Given the description of an element on the screen output the (x, y) to click on. 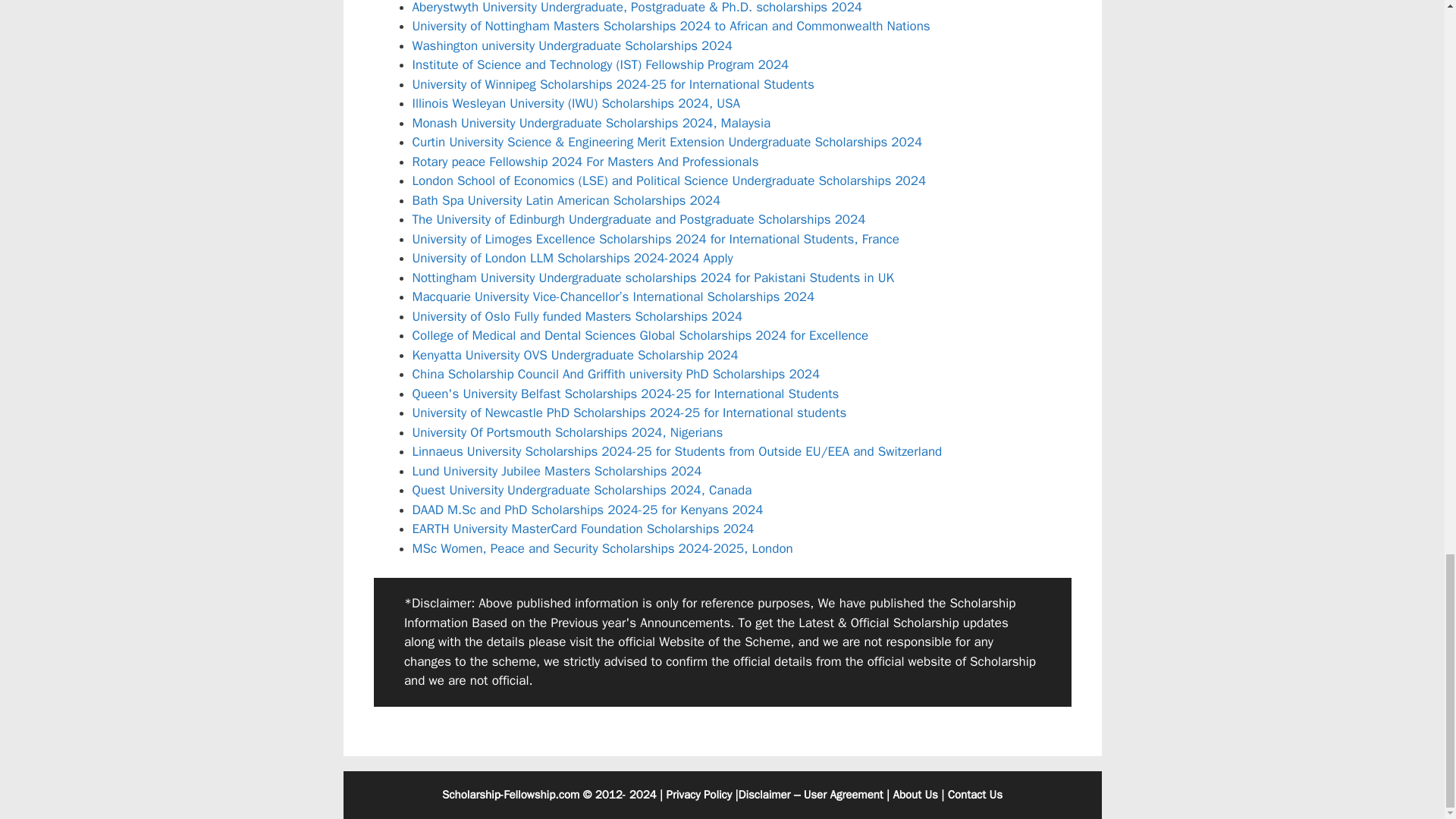
Rotary peace Fellowship 2024 For Masters And Professionals (585, 161)
Washington university Undergraduate Scholarships 2024 (572, 45)
Kenyatta University OVS Undergraduate Scholarship 2024 (575, 355)
University of London LLM Scholarships 2024-2024 Apply (572, 258)
University Of Portsmouth Scholarships 2024, Nigerians (567, 432)
Quest University Undergraduate Scholarships 2024, Canada (582, 489)
University of Oslo Fully funded Masters Scholarships 2024 (577, 316)
Bath Spa University Latin American Scholarships 2024 (566, 200)
Monash University Undergraduate Scholarships 2024, Malaysia (591, 123)
Lund University Jubilee Masters Scholarships 2024 (556, 471)
